Given the description of an element on the screen output the (x, y) to click on. 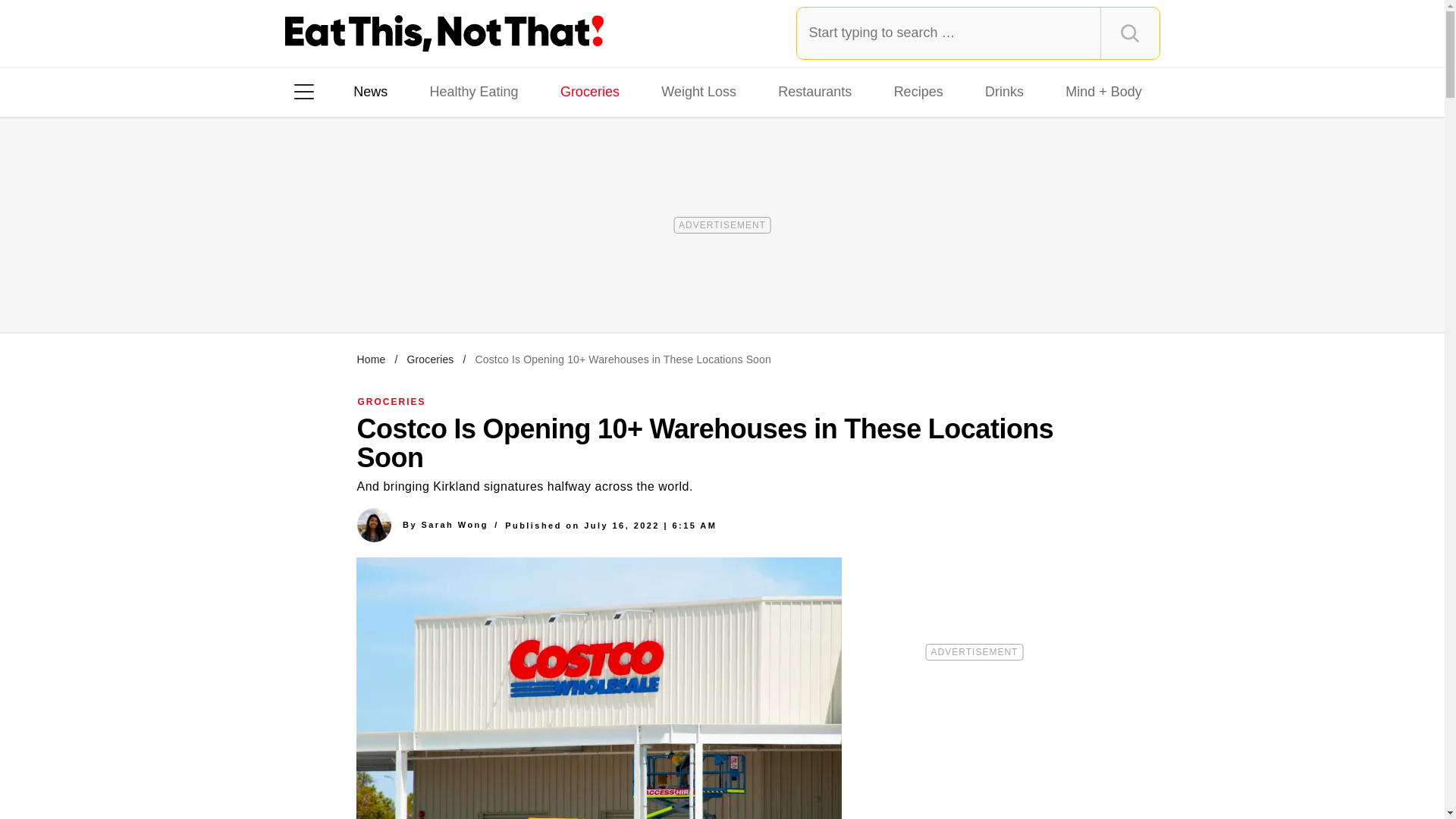
Pinterest (443, 287)
GROCERIES (392, 401)
Type and press Enter to search (978, 32)
Sarah Wong (453, 524)
Home (370, 358)
Weight Loss (698, 91)
Healthy Eating (473, 91)
TikTok (399, 287)
Facebook (314, 287)
Eat This Not That Homepage (444, 33)
Instagram (357, 287)
News (370, 91)
Groceries (429, 358)
Restaurants (814, 91)
TikTok (399, 287)
